Given the description of an element on the screen output the (x, y) to click on. 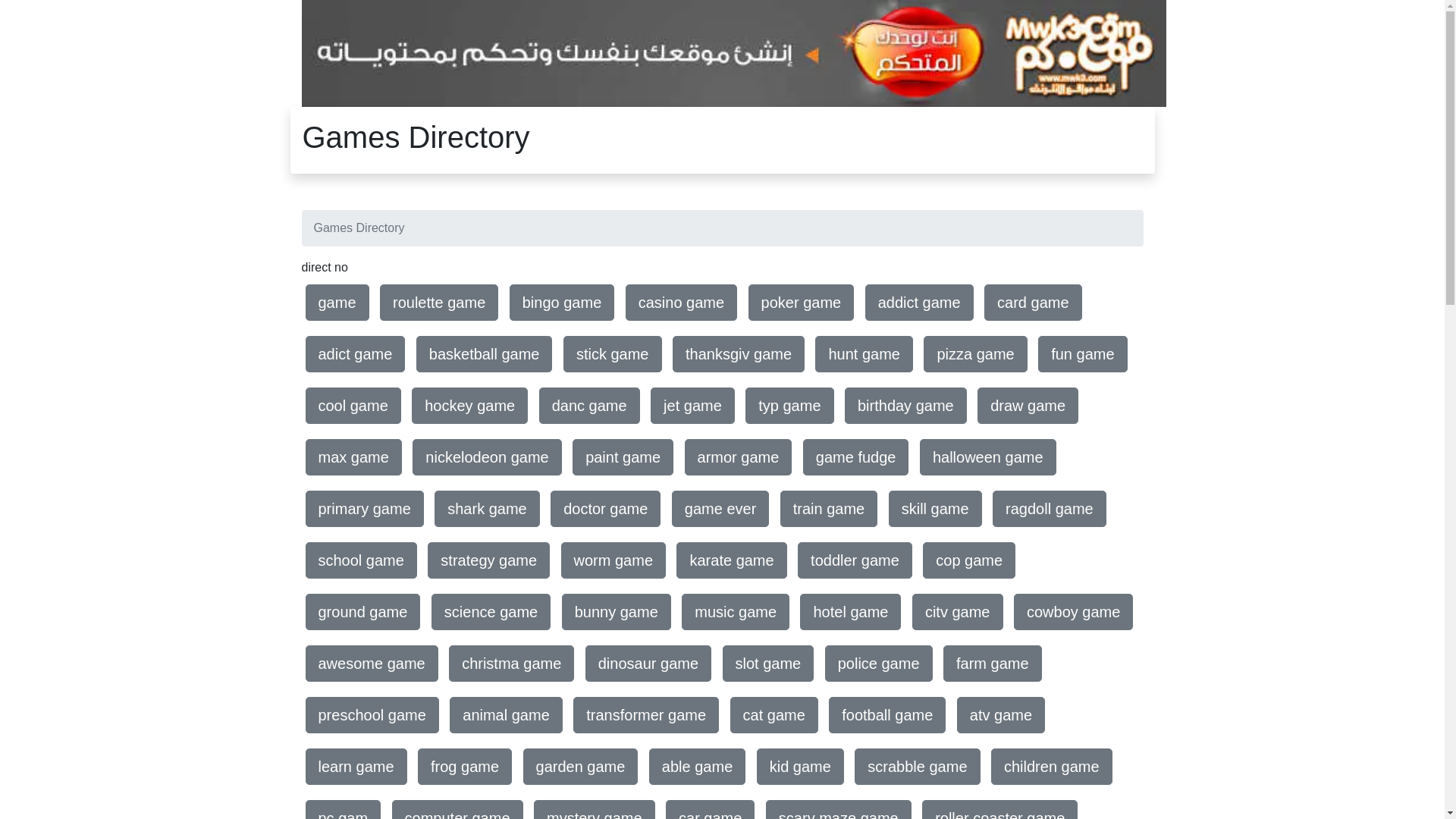
draw game Element type: text (1027, 405)
transformer game Element type: text (645, 714)
awesome game Element type: text (370, 663)
doctor game Element type: text (605, 508)
toddler game Element type: text (854, 560)
police game Element type: text (878, 663)
danc game Element type: text (589, 405)
cool game Element type: text (352, 405)
game fudge Element type: text (856, 457)
atv game Element type: text (1000, 714)
citv game Element type: text (957, 611)
worm game Element type: text (613, 560)
hockey game Element type: text (469, 405)
pizza game Element type: text (974, 353)
animal game Element type: text (505, 714)
music game Element type: text (735, 611)
ragdoll game Element type: text (1049, 508)
christma game Element type: text (511, 663)
cowboy game Element type: text (1072, 611)
game Element type: text (336, 302)
birthday game Element type: text (905, 405)
garden game Element type: text (580, 766)
roulette game Element type: text (438, 302)
halloween game Element type: text (987, 457)
scrabble game Element type: text (916, 766)
children game Element type: text (1051, 766)
hotel game Element type: text (850, 611)
farm game Element type: text (992, 663)
basketball game Element type: text (484, 353)
jet game Element type: text (692, 405)
poker game Element type: text (801, 302)
dinosaur game Element type: text (648, 663)
cop game Element type: text (968, 560)
casino game Element type: text (681, 302)
bingo game Element type: text (562, 302)
ground game Element type: text (362, 611)
football game Element type: text (886, 714)
skill game Element type: text (935, 508)
frog game Element type: text (464, 766)
learn game Element type: text (355, 766)
thanksgiv game Element type: text (738, 353)
able game Element type: text (697, 766)
stick game Element type: text (612, 353)
addict game Element type: text (919, 302)
science game Element type: text (490, 611)
strategy game Element type: text (488, 560)
primary game Element type: text (363, 508)
max game Element type: text (352, 457)
karate game Element type: text (731, 560)
paint game Element type: text (622, 457)
nickelodeon game Element type: text (486, 457)
kid game Element type: text (800, 766)
hunt game Element type: text (864, 353)
typ game Element type: text (789, 405)
bunny game Element type: text (616, 611)
school game Element type: text (360, 560)
adict game Element type: text (354, 353)
preschool game Element type: text (371, 714)
game ever Element type: text (720, 508)
cat game Element type: text (774, 714)
shark game Element type: text (486, 508)
card game Element type: text (1033, 302)
train game Element type: text (829, 508)
armor game Element type: text (738, 457)
fun game Element type: text (1082, 353)
slot game Element type: text (768, 663)
